Given the description of an element on the screen output the (x, y) to click on. 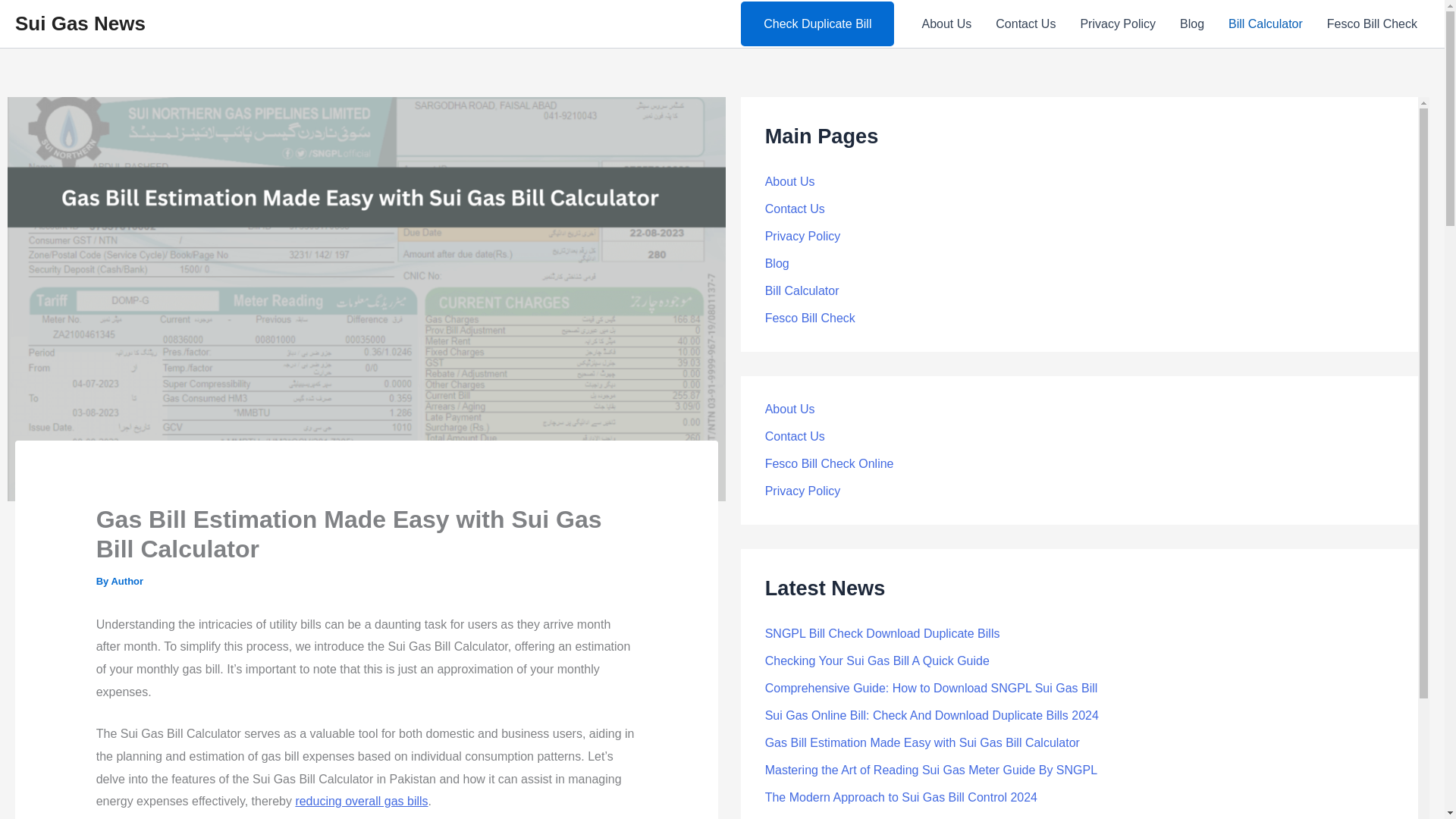
Contact Us (795, 208)
About Us (790, 181)
Fesco Bill Check (1371, 23)
Author (126, 581)
Blog (1191, 23)
Privacy Policy (1117, 23)
reducing overall gas bills (361, 800)
Bill Calculator (1264, 23)
Contact Us (1025, 23)
About Us (946, 23)
View all posts by Author (126, 581)
Privacy Policy (803, 236)
Check Duplicate Bill (817, 23)
Sui Gas News (79, 23)
